Given the description of an element on the screen output the (x, y) to click on. 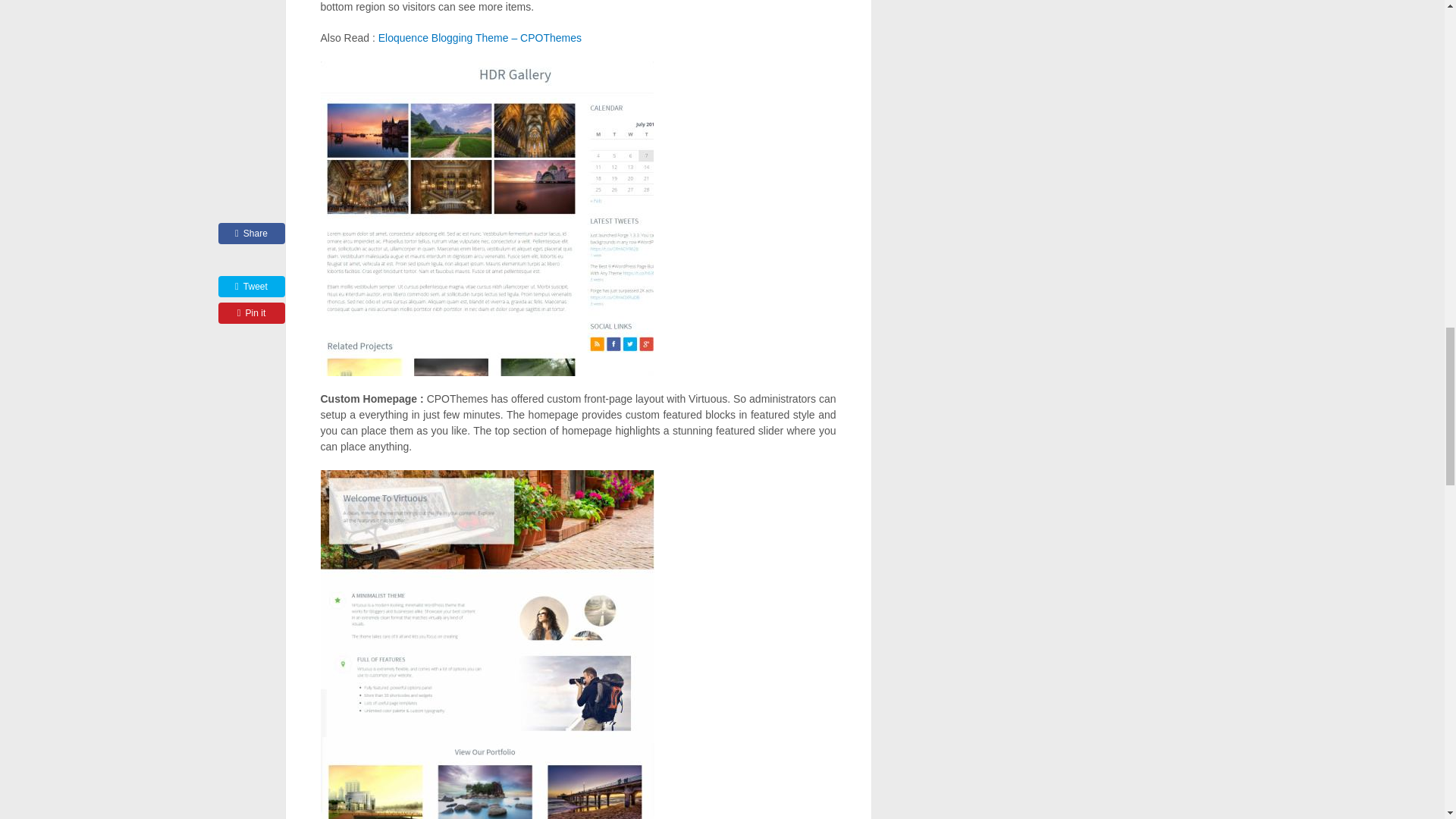
Virtuous WordPress Portfolio Theme : CPOThemes (486, 644)
Virtuous WordPress Portfolio Theme : CPOThemes (486, 218)
